Given the description of an element on the screen output the (x, y) to click on. 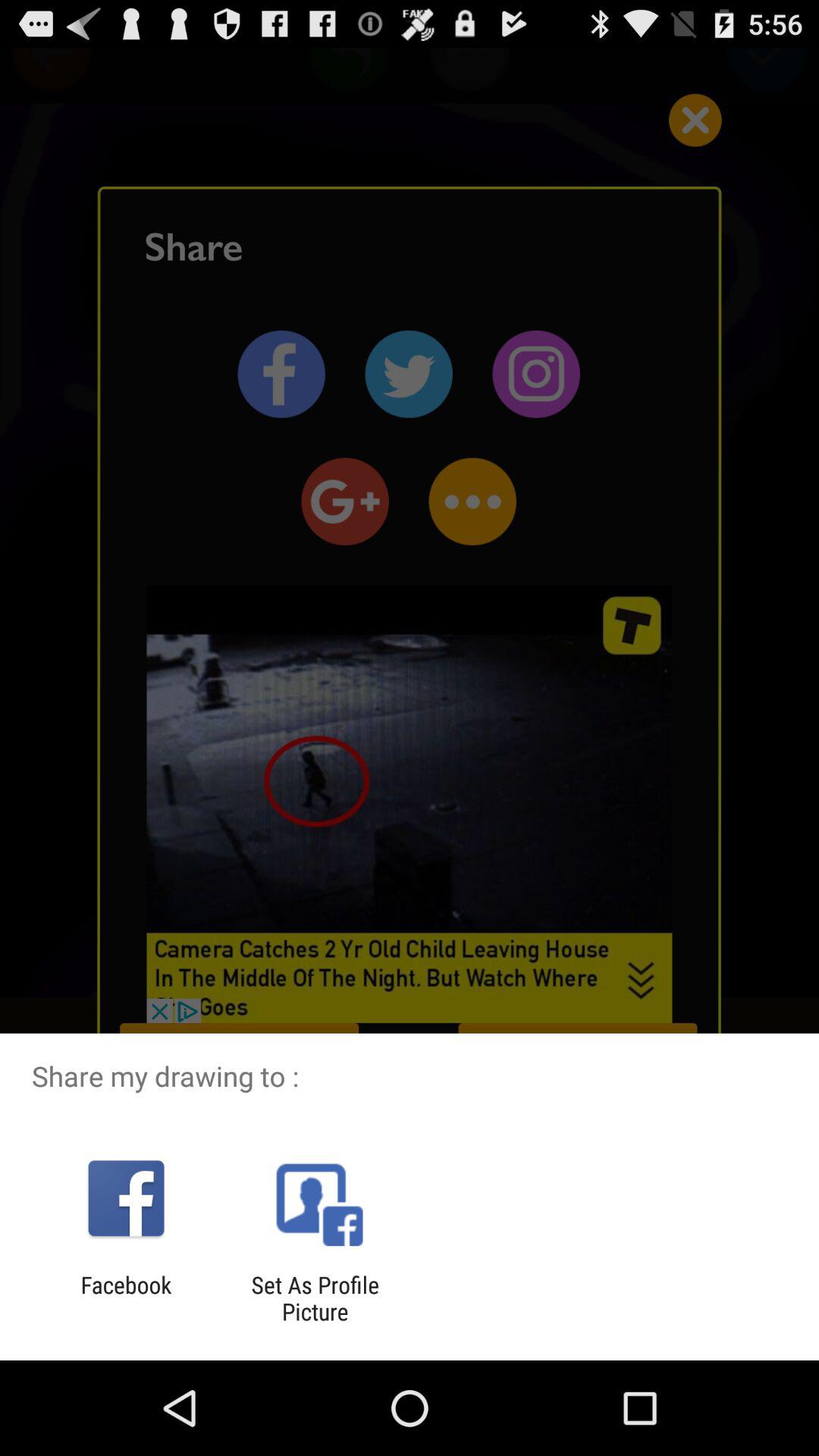
turn off the app to the left of the set as profile item (125, 1298)
